Given the description of an element on the screen output the (x, y) to click on. 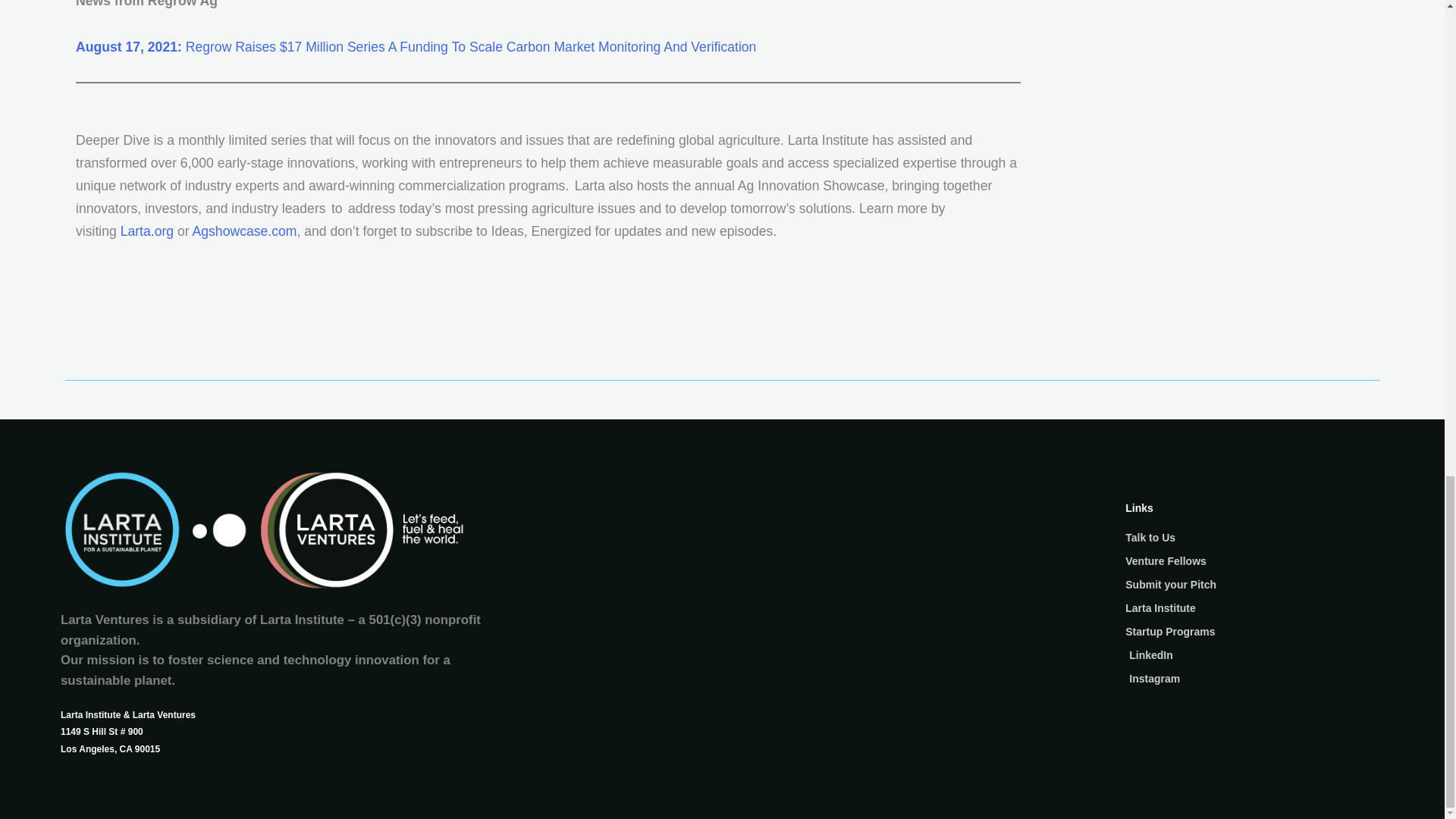
Instagram (1254, 679)
Startup Programs (1254, 632)
LinkedIn (1254, 655)
Larta Institute (1254, 608)
Talk to Us (1254, 537)
Submit your Pitch (1254, 585)
Larta.org (146, 231)
Agshowcase.com (244, 231)
Venture Fellows (1254, 561)
